Given the description of an element on the screen output the (x, y) to click on. 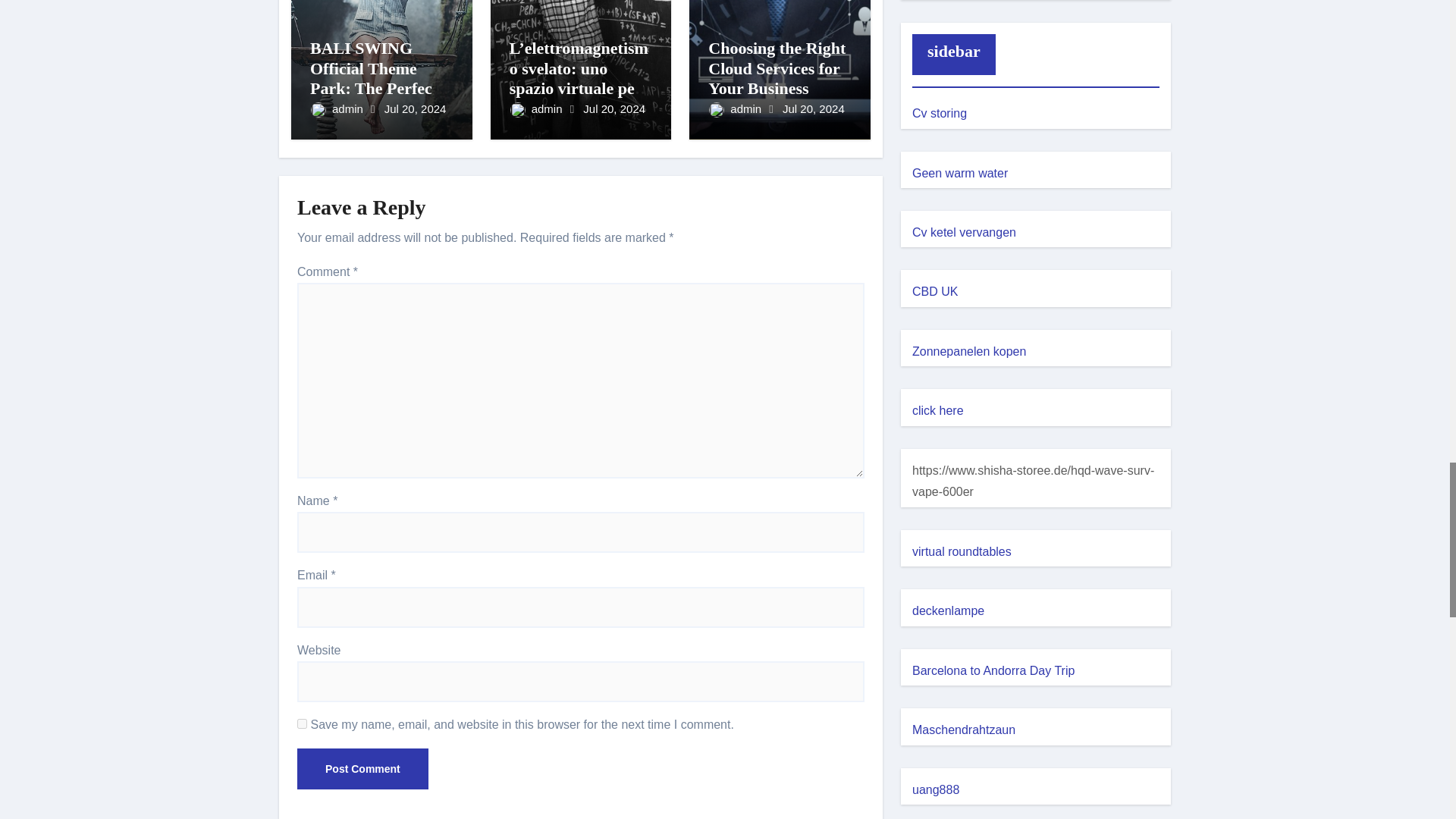
Post Comment (362, 768)
yes (302, 723)
